Given the description of an element on the screen output the (x, y) to click on. 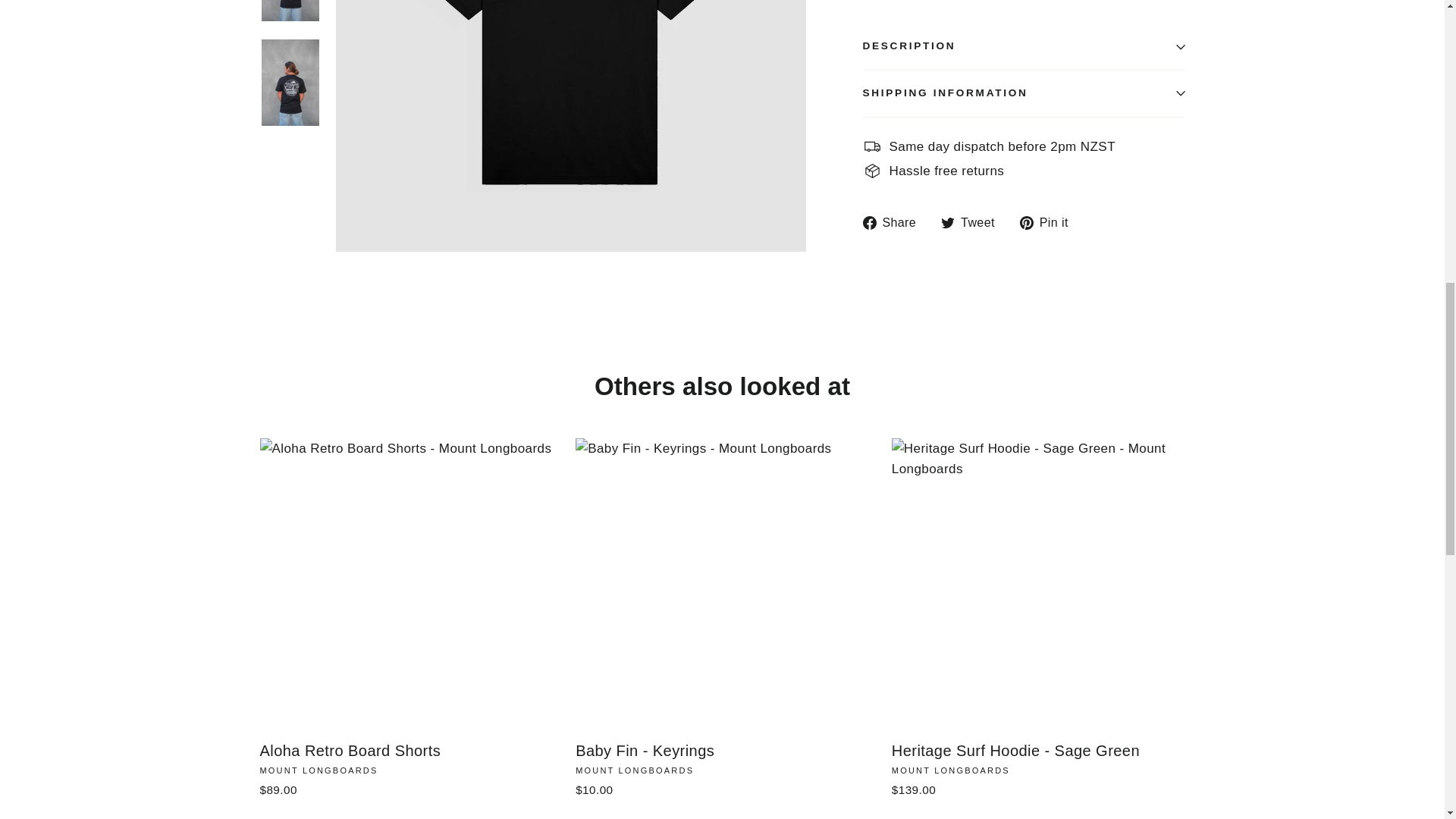
Pin on Pinterest (1050, 222)
twitter (947, 223)
Tweet on Twitter (973, 222)
Share on Facebook (895, 222)
